Given the description of an element on the screen output the (x, y) to click on. 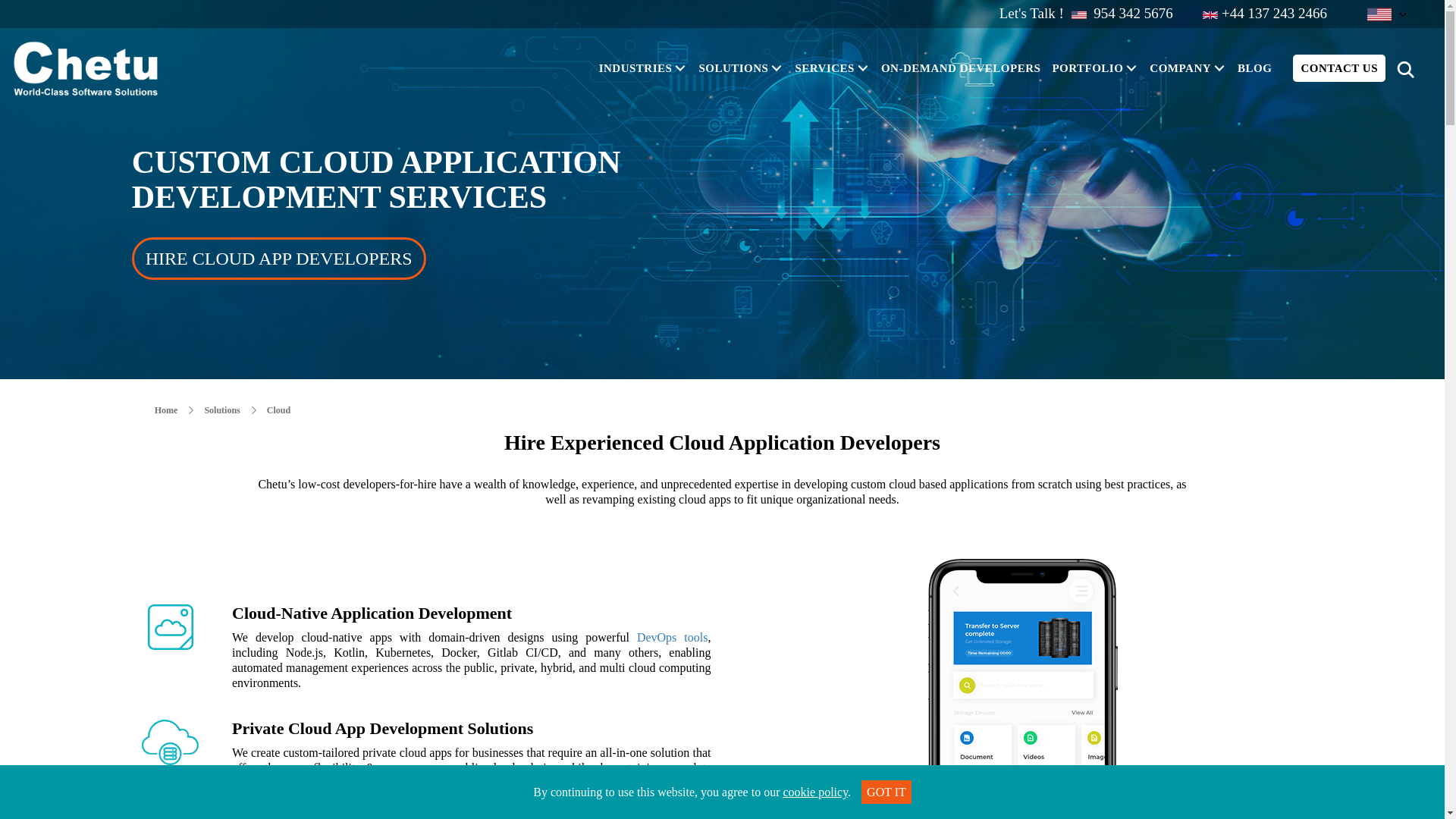
SOLUTIONS (742, 67)
INDUSTRIES (644, 67)
 954 342 5676 (1131, 13)
